Given the description of an element on the screen output the (x, y) to click on. 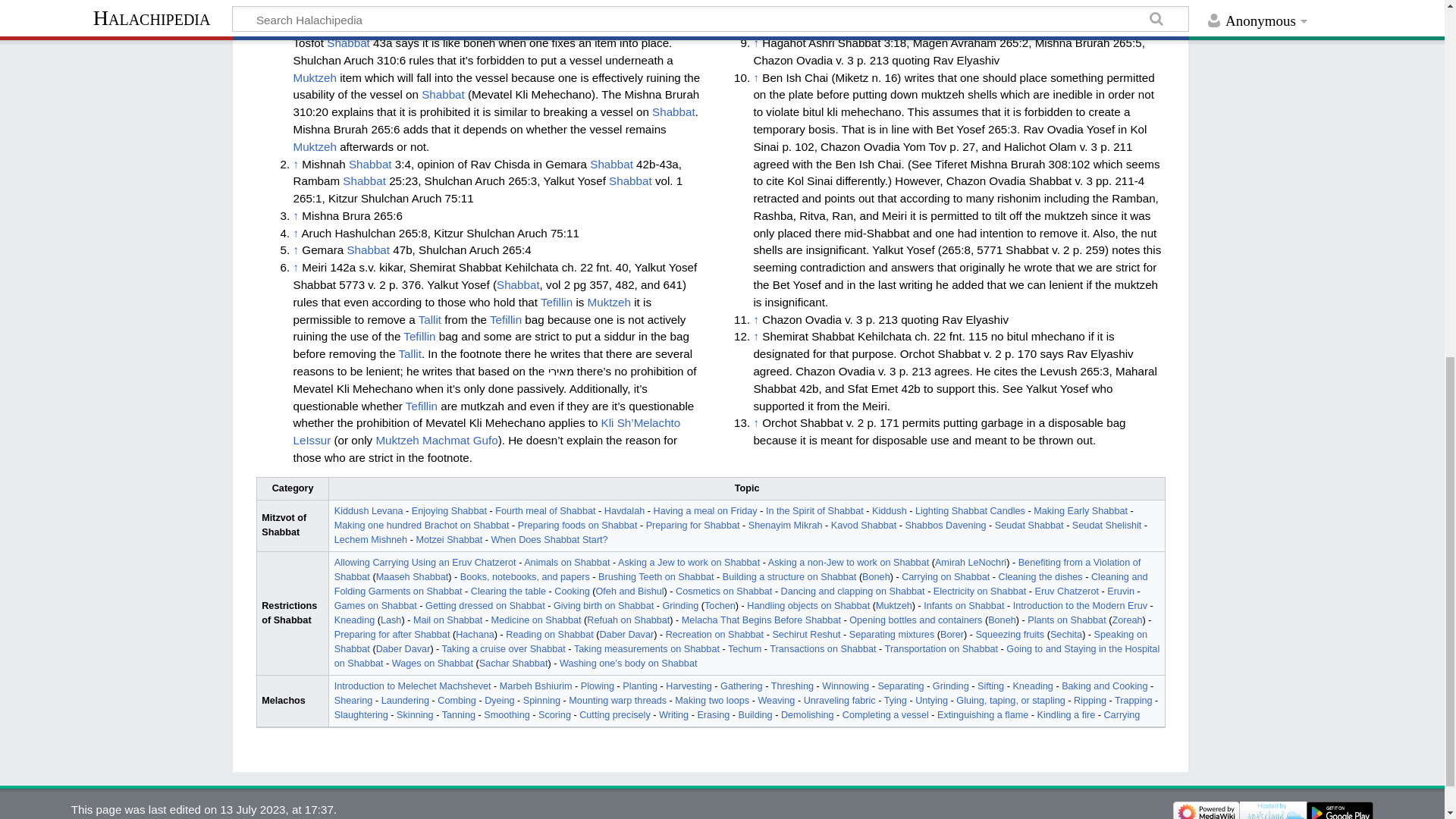
Shabbat (443, 93)
Shabbat (347, 42)
Muktzeh (314, 77)
Shabbat (482, 7)
